Given the description of an element on the screen output the (x, y) to click on. 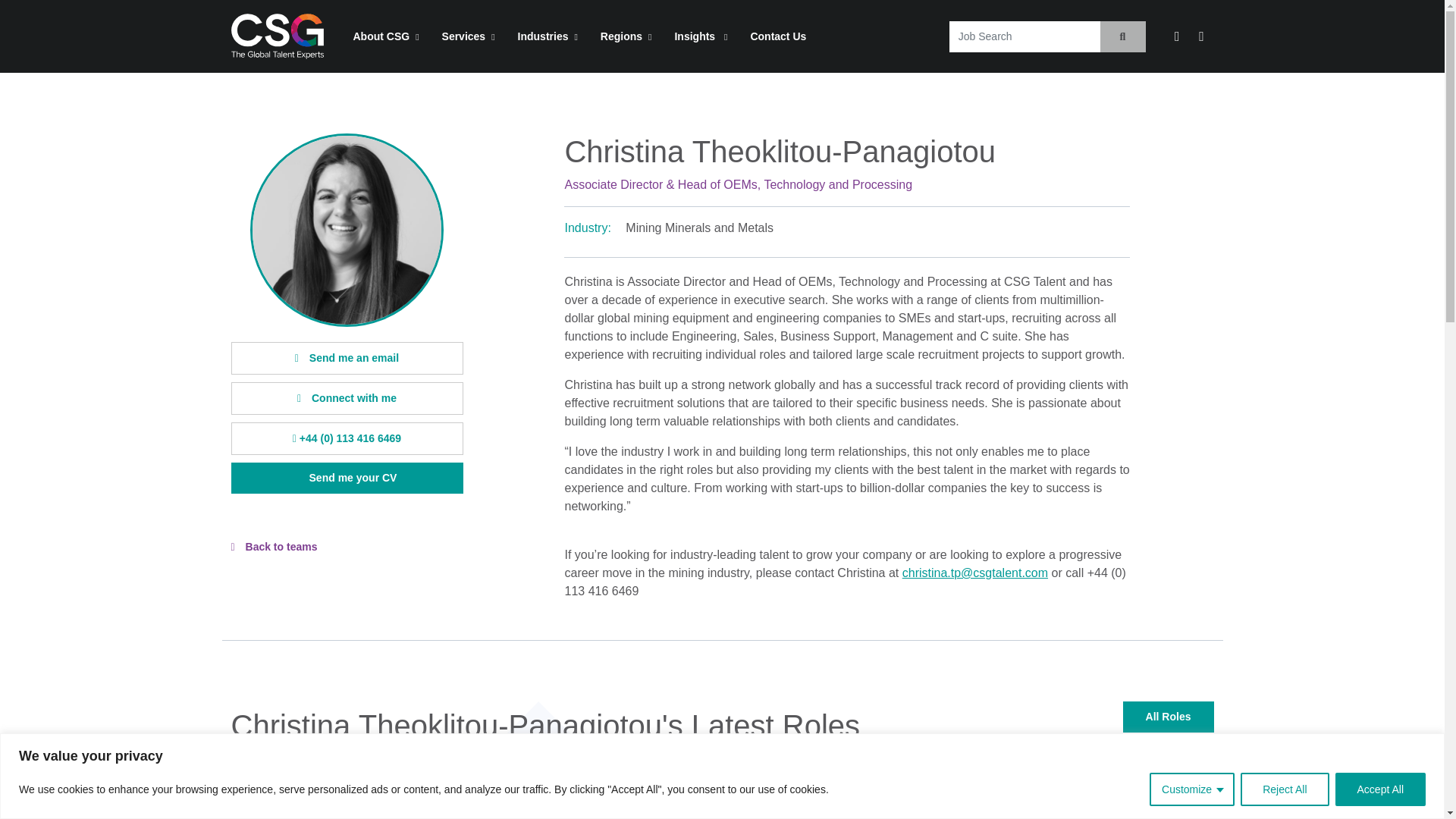
About CSG (384, 36)
Accept All (1380, 788)
Customize (1192, 788)
Services (468, 36)
Industries (547, 36)
Reject All (1283, 788)
